Given the description of an element on the screen output the (x, y) to click on. 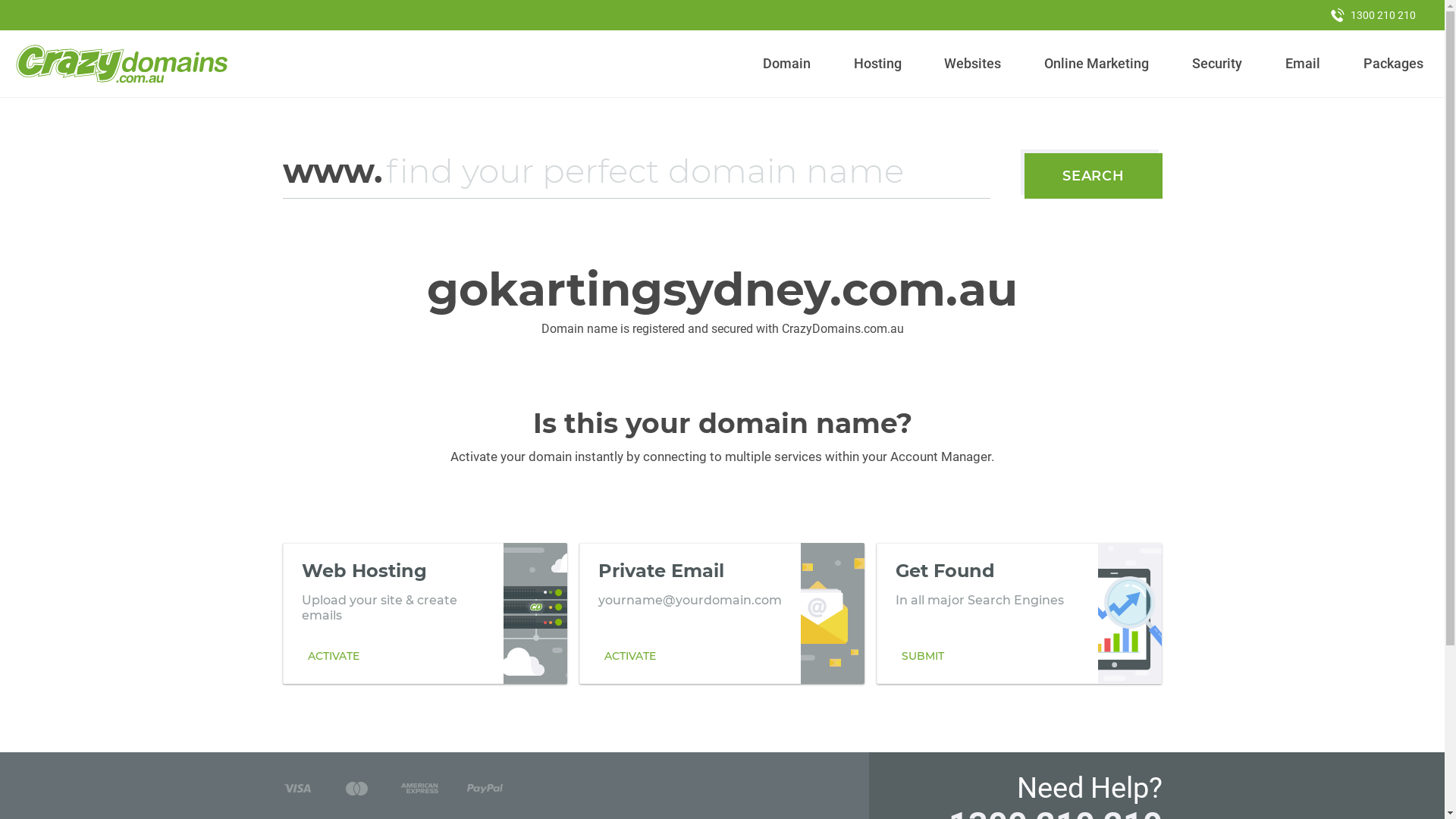
Packages Element type: text (1392, 63)
Hosting Element type: text (877, 63)
Websites Element type: text (972, 63)
Get Found
In all major Search Engines
SUBMIT Element type: text (1018, 613)
Email Element type: text (1302, 63)
Domain Element type: text (786, 63)
SEARCH Element type: text (1092, 175)
Private Email
yourname@yourdomain.com
ACTIVATE Element type: text (721, 613)
Web Hosting
Upload your site & create emails
ACTIVATE Element type: text (424, 613)
Security Element type: text (1217, 63)
Online Marketing Element type: text (1096, 63)
1300 210 210 Element type: text (1373, 15)
